Given the description of an element on the screen output the (x, y) to click on. 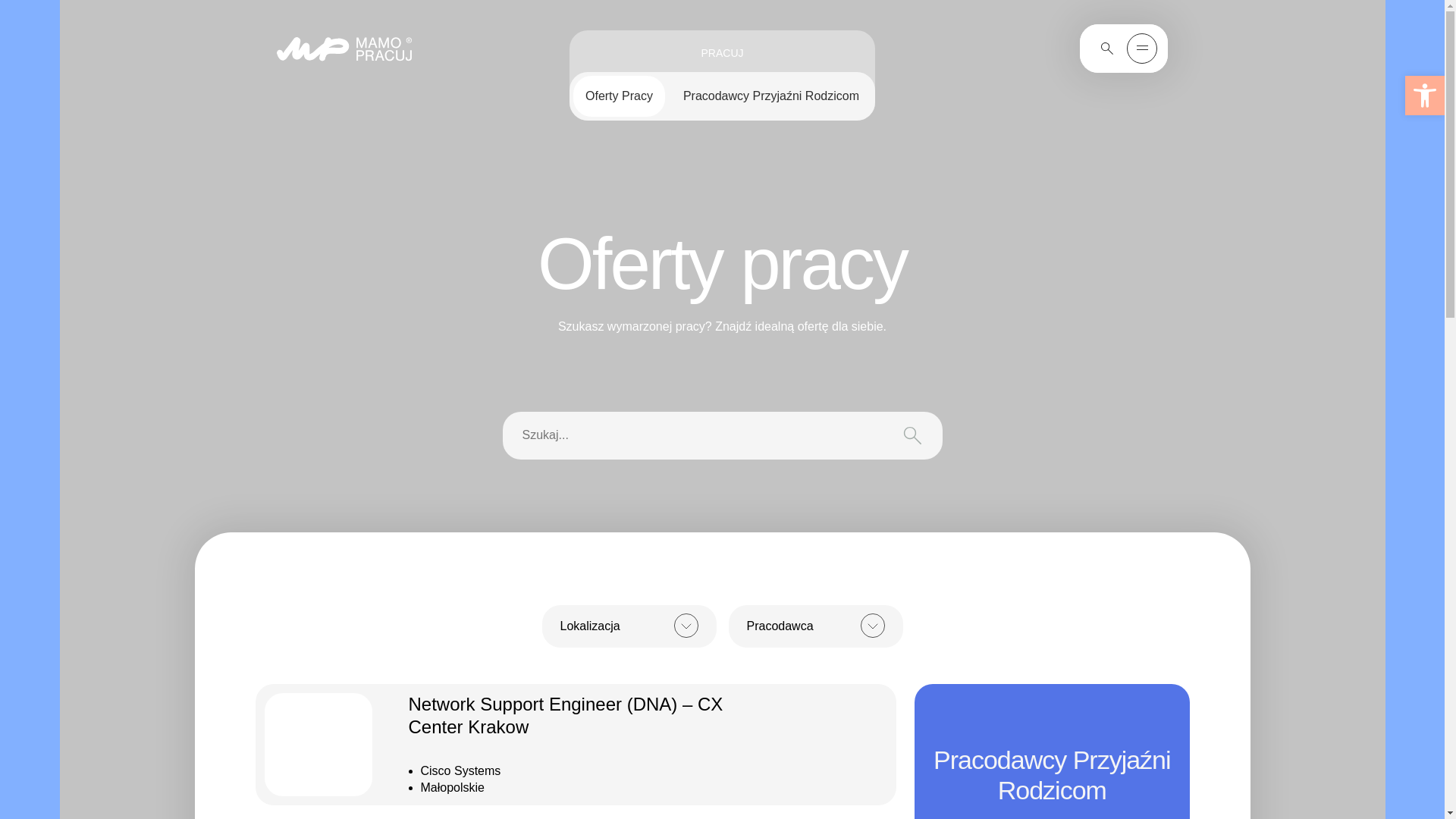
OK (585, 675)
Oferty Pracy (618, 95)
Lokalizacja (585, 675)
OK (772, 675)
Pracodawca (772, 675)
